Given the description of an element on the screen output the (x, y) to click on. 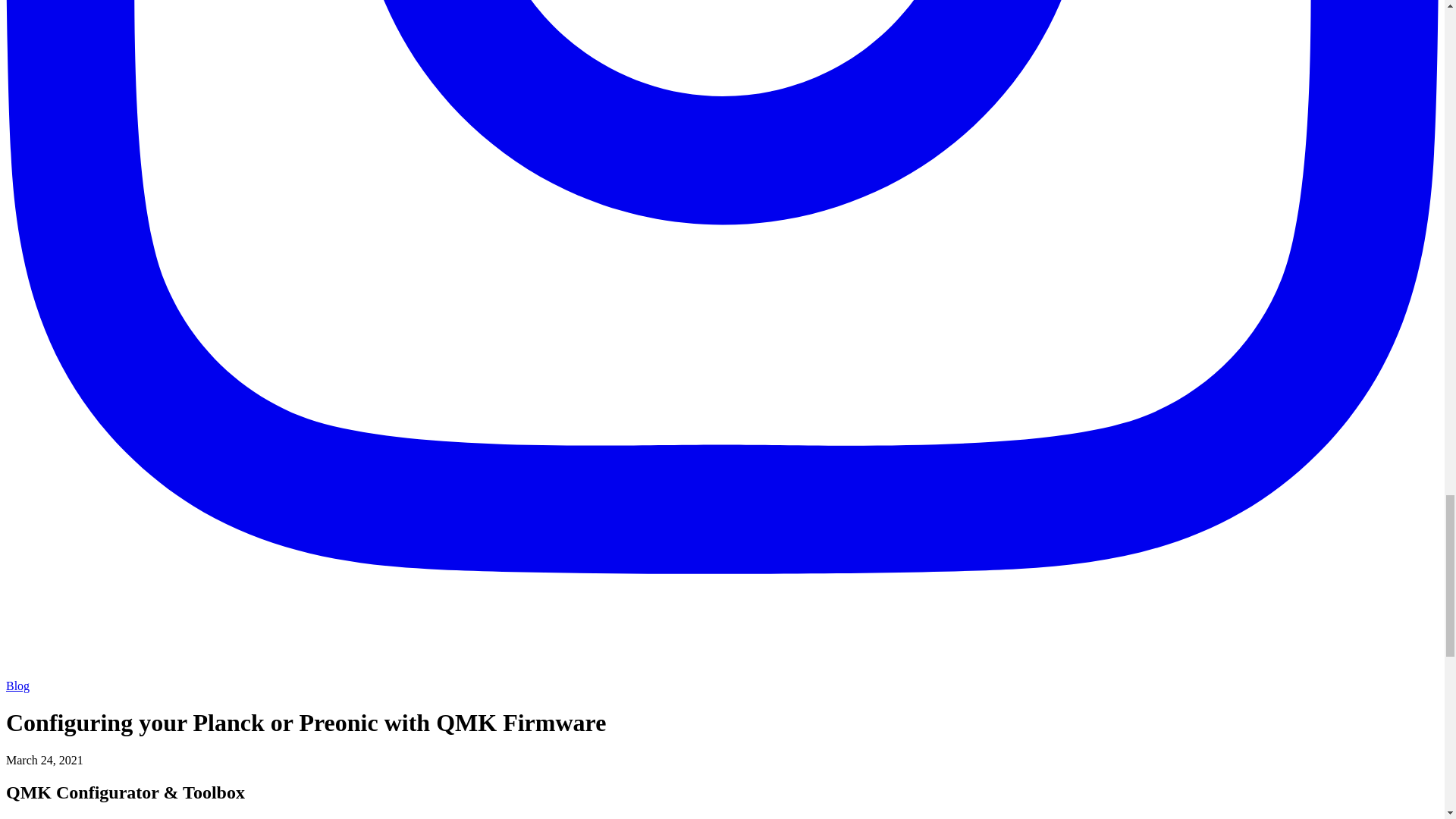
Blog (17, 685)
